Given the description of an element on the screen output the (x, y) to click on. 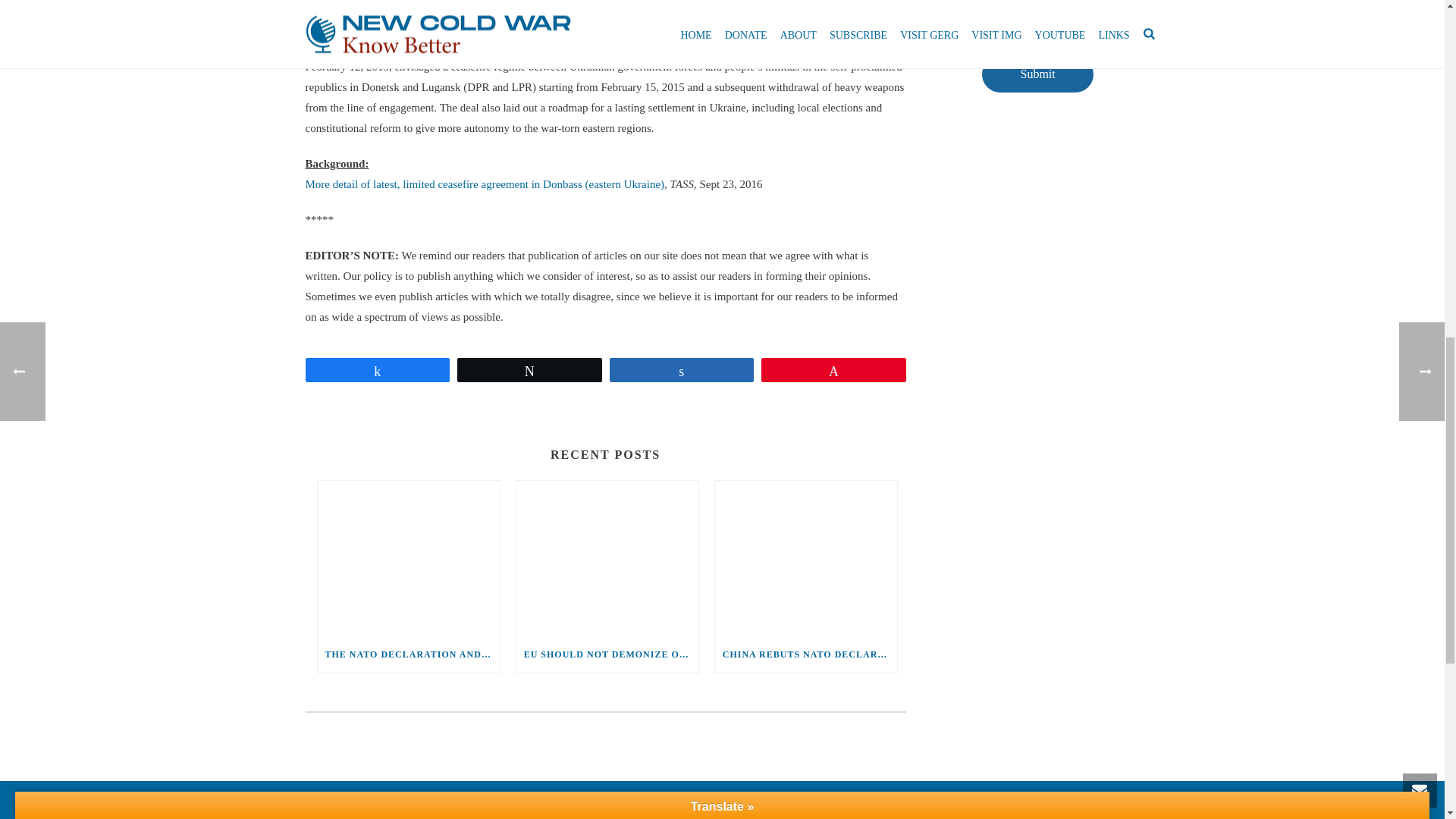
Submit (1037, 74)
